Given the description of an element on the screen output the (x, y) to click on. 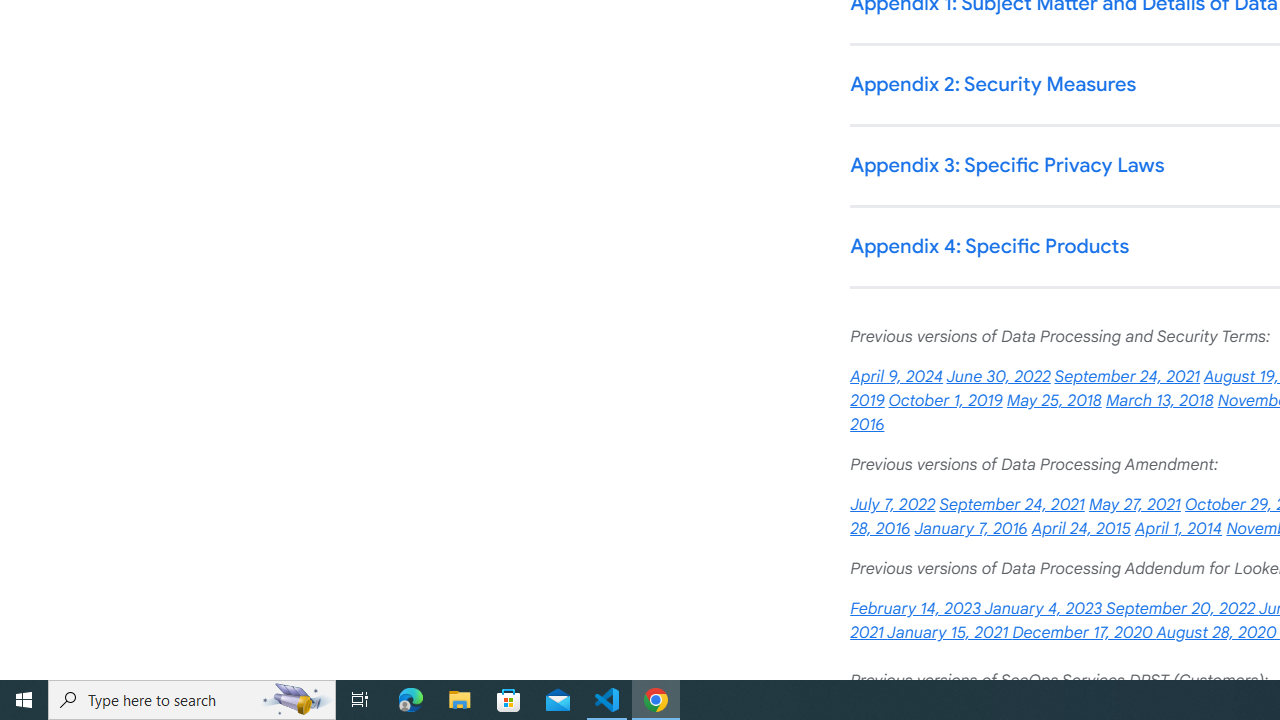
October 1, 2019 (945, 400)
